Given the description of an element on the screen output the (x, y) to click on. 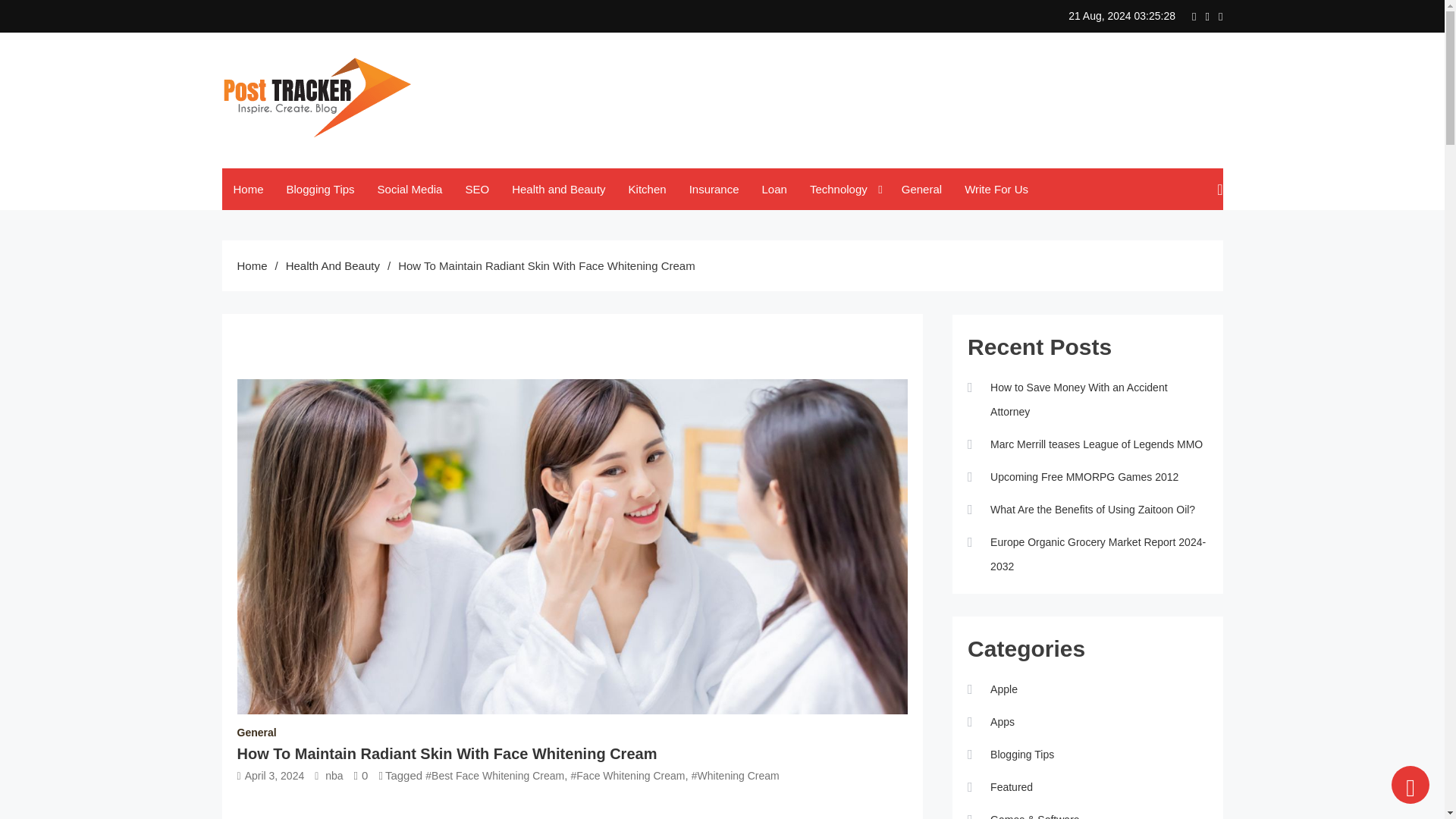
General (255, 732)
Health And Beauty (332, 265)
nba (333, 775)
SEO (476, 188)
April 3, 2024 (274, 775)
Social Media (410, 188)
Home (248, 188)
Home (250, 265)
Post Trackers (296, 162)
Write For Us (996, 188)
